Given the description of an element on the screen output the (x, y) to click on. 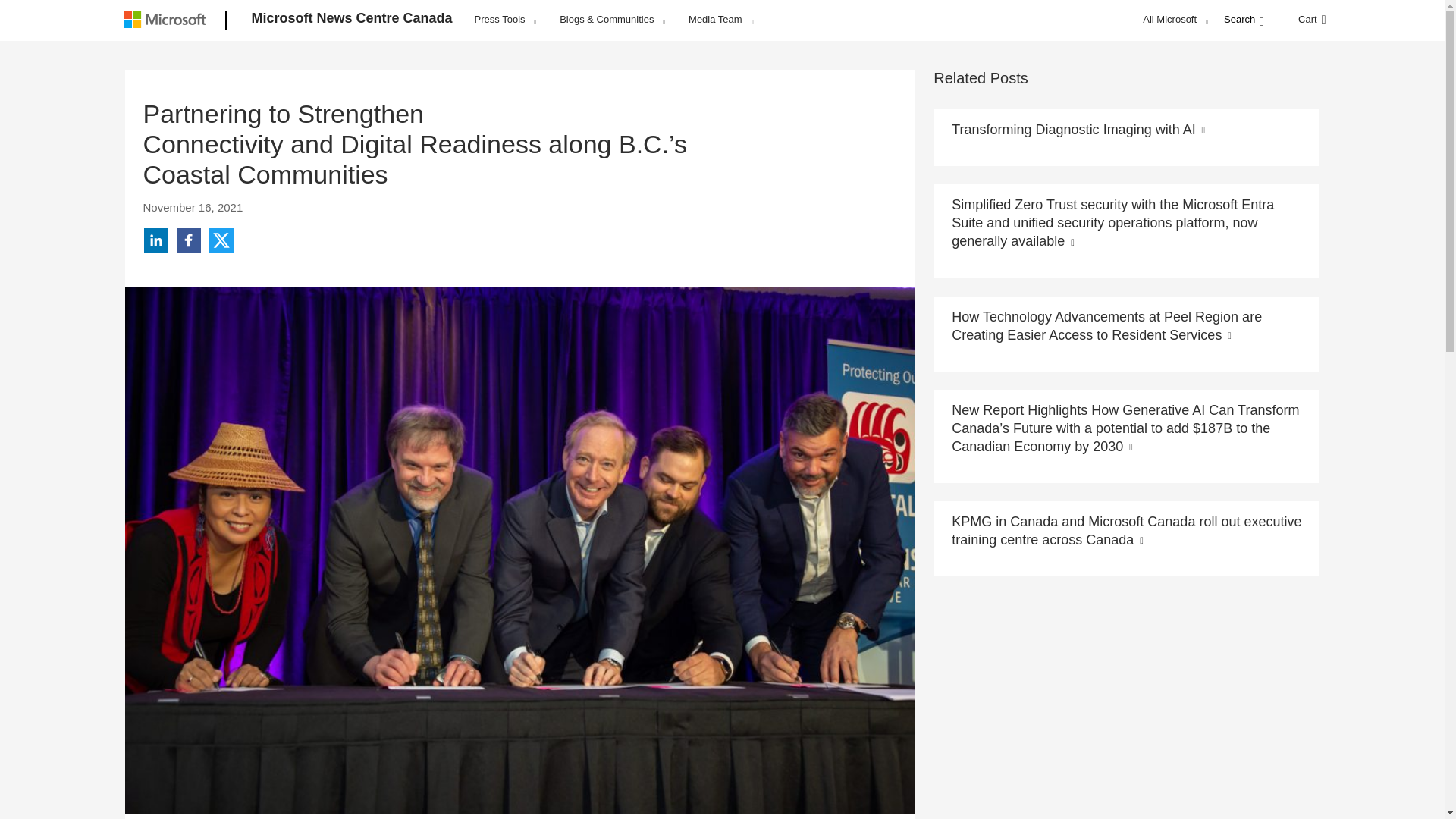
Media Team (720, 18)
Press Tools (504, 18)
Microsoft News Centre Canada (352, 20)
All Microsoft (1173, 18)
Microsoft (167, 20)
